Given the description of an element on the screen output the (x, y) to click on. 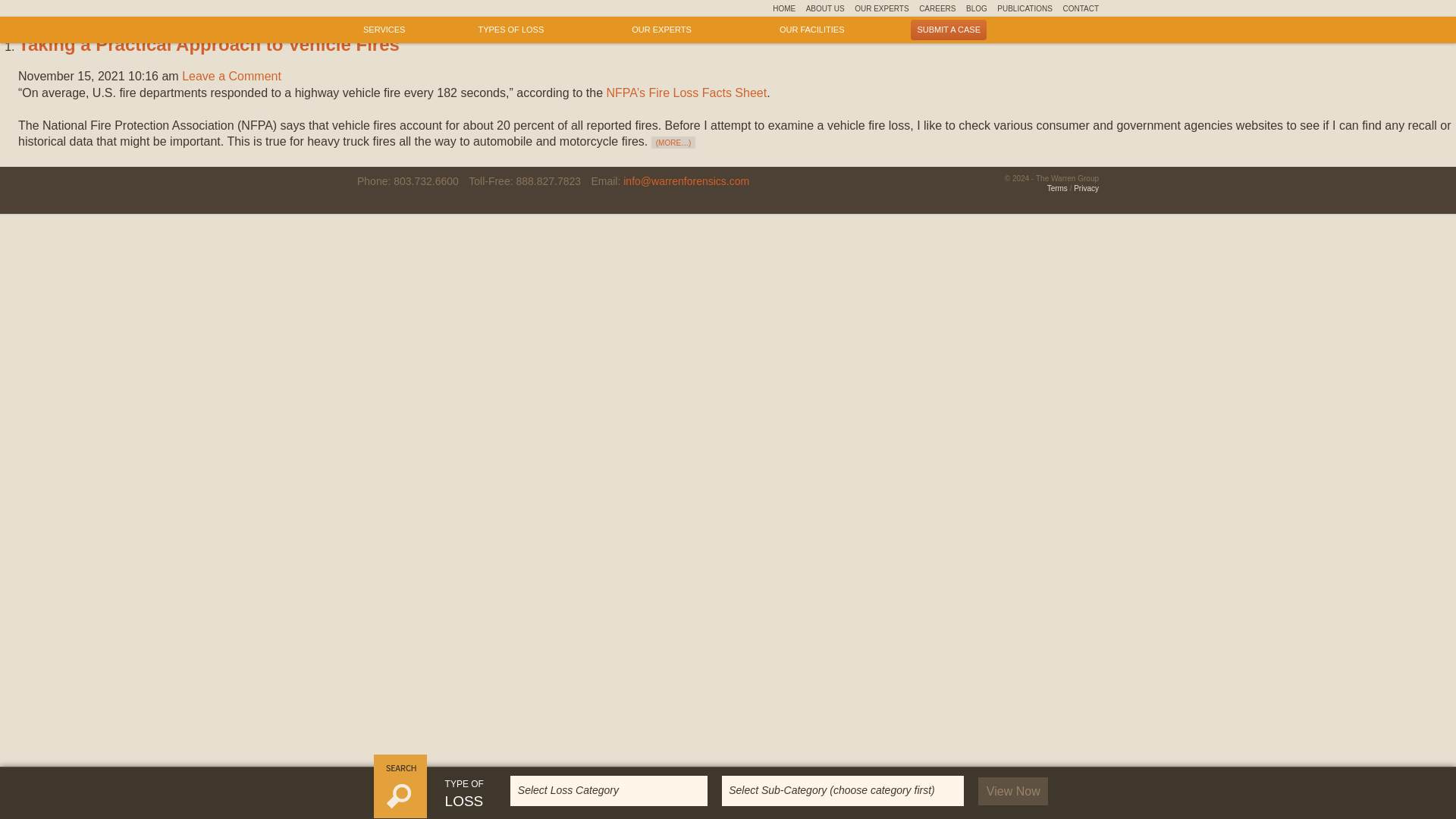
PUBLICATIONS (1024, 8)
SUBMIT A CASE (949, 29)
OUR EXPERTS (881, 8)
ABOUT US (825, 8)
Permalink to Taking a Practical Approach to Vehicle Fires (207, 44)
OUR FACILITIES (811, 29)
SERVICES (383, 29)
CONTACT (1080, 8)
OUR EXPERTS (669, 29)
TYPES OF LOSS (517, 29)
Warren Forensics (397, 8)
BLOG (976, 8)
HOME (783, 8)
CAREERS (936, 8)
